Given the description of an element on the screen output the (x, y) to click on. 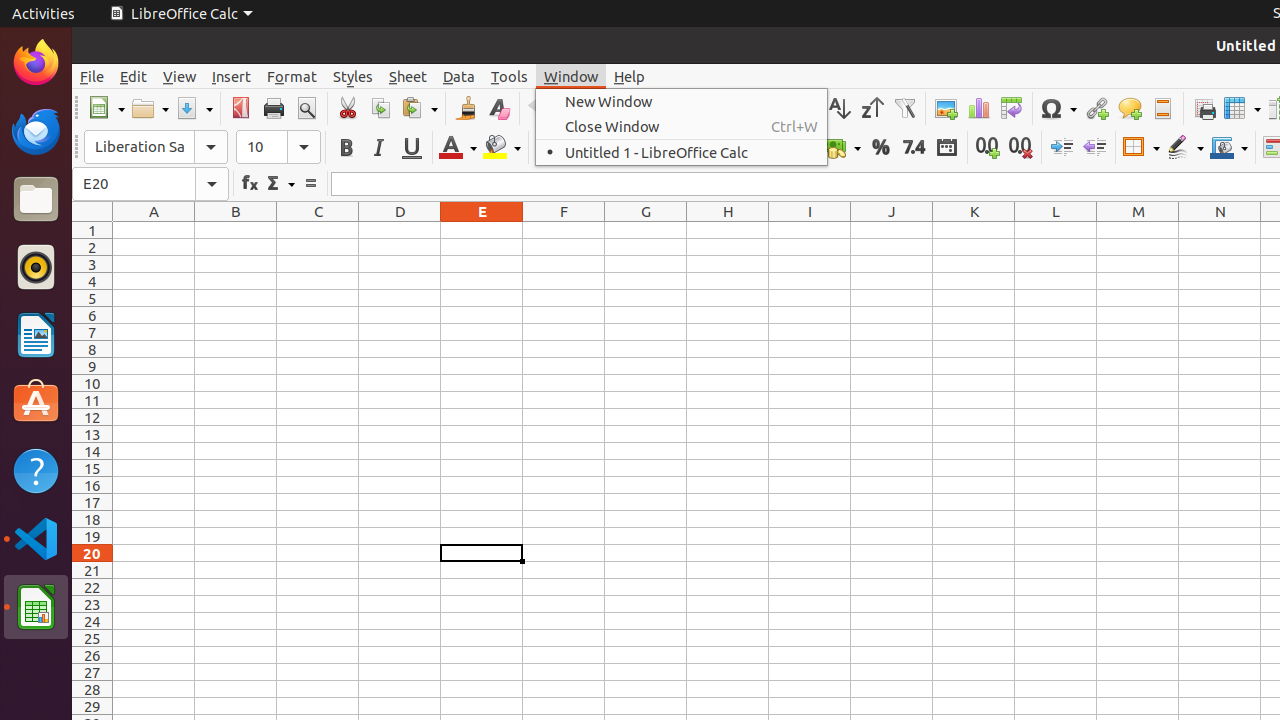
K1 Element type: table-cell (974, 230)
Sort Descending Element type: push-button (871, 108)
View Element type: menu (179, 76)
B1 Element type: table-cell (236, 230)
